Given the description of an element on the screen output the (x, y) to click on. 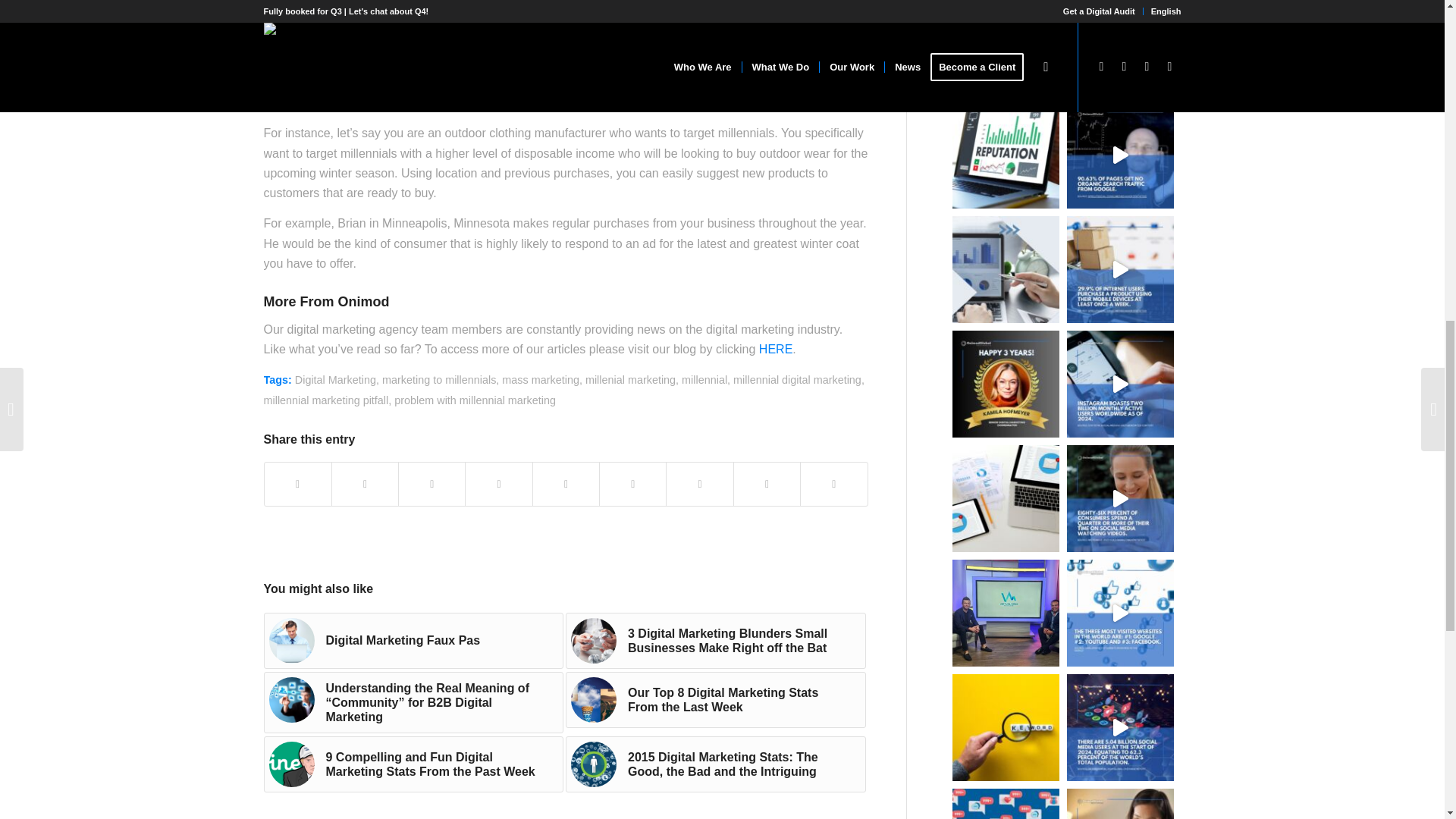
millennial marketing pitfall (325, 399)
marketing to millennials (438, 379)
mass marketing (540, 379)
HERE (775, 349)
millennial digital marketing (797, 379)
Digital Marketing (335, 379)
millenial marketing (630, 379)
millennial (703, 379)
